Given the description of an element on the screen output the (x, y) to click on. 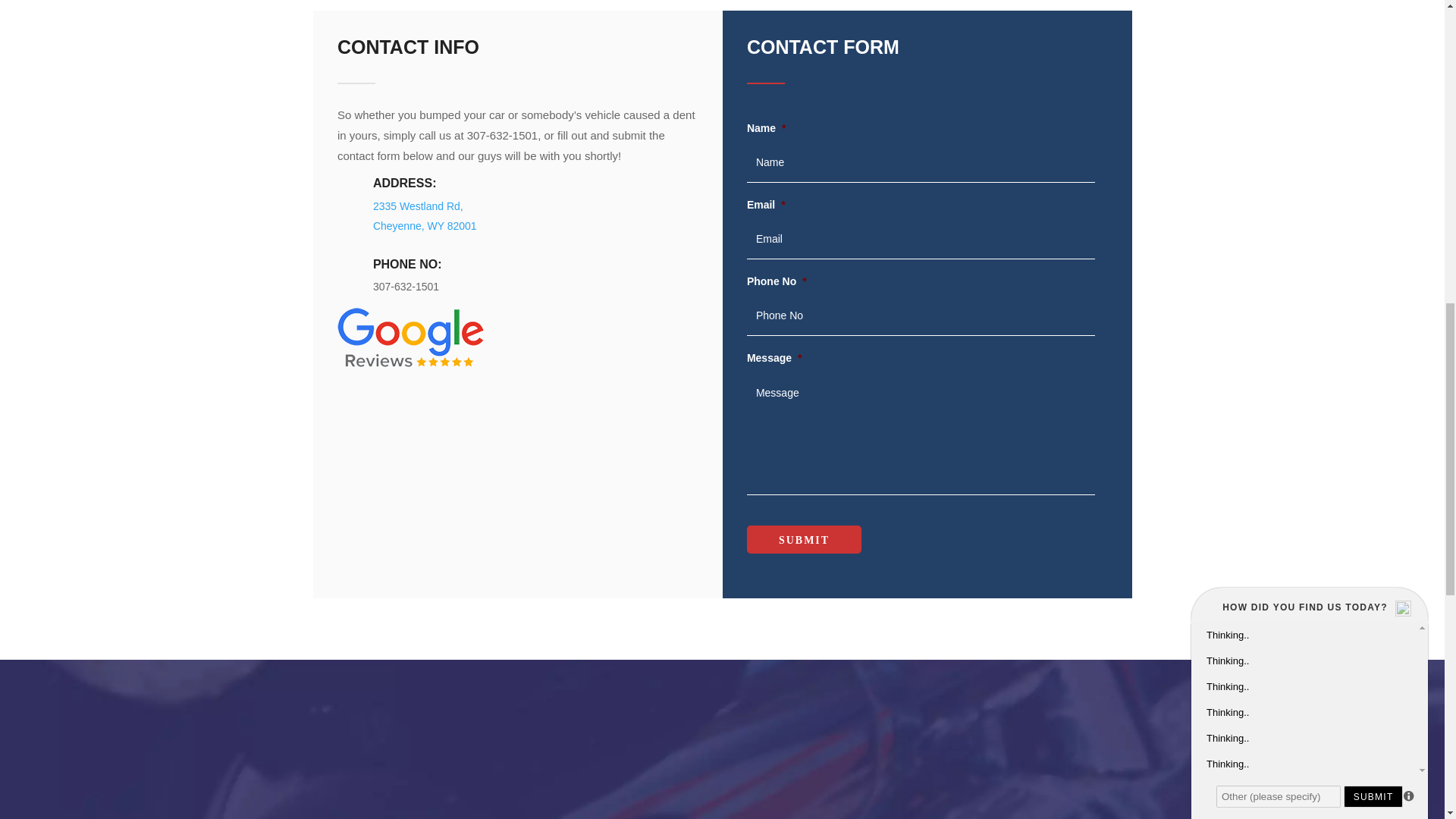
Submit (803, 539)
Cheyenne, WY 82001 (424, 225)
307-632-1501 (405, 286)
2335 Westland Rd, (417, 205)
Submit (803, 539)
